Given the description of an element on the screen output the (x, y) to click on. 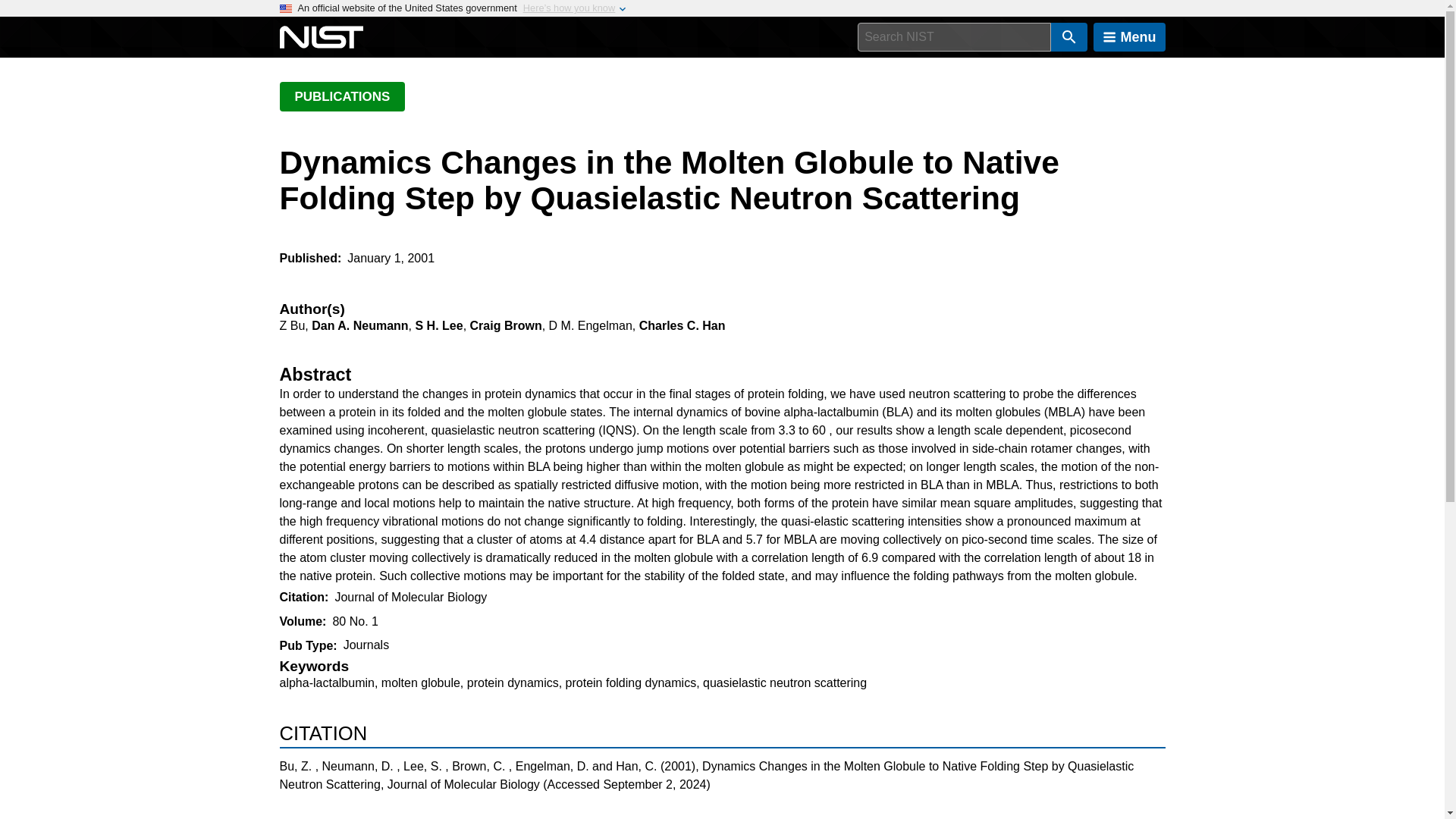
PUBLICATIONS (341, 96)
National Institute of Standards and Technology (320, 36)
Menu (1129, 36)
Additional citation formats (721, 812)
